Given the description of an element on the screen output the (x, y) to click on. 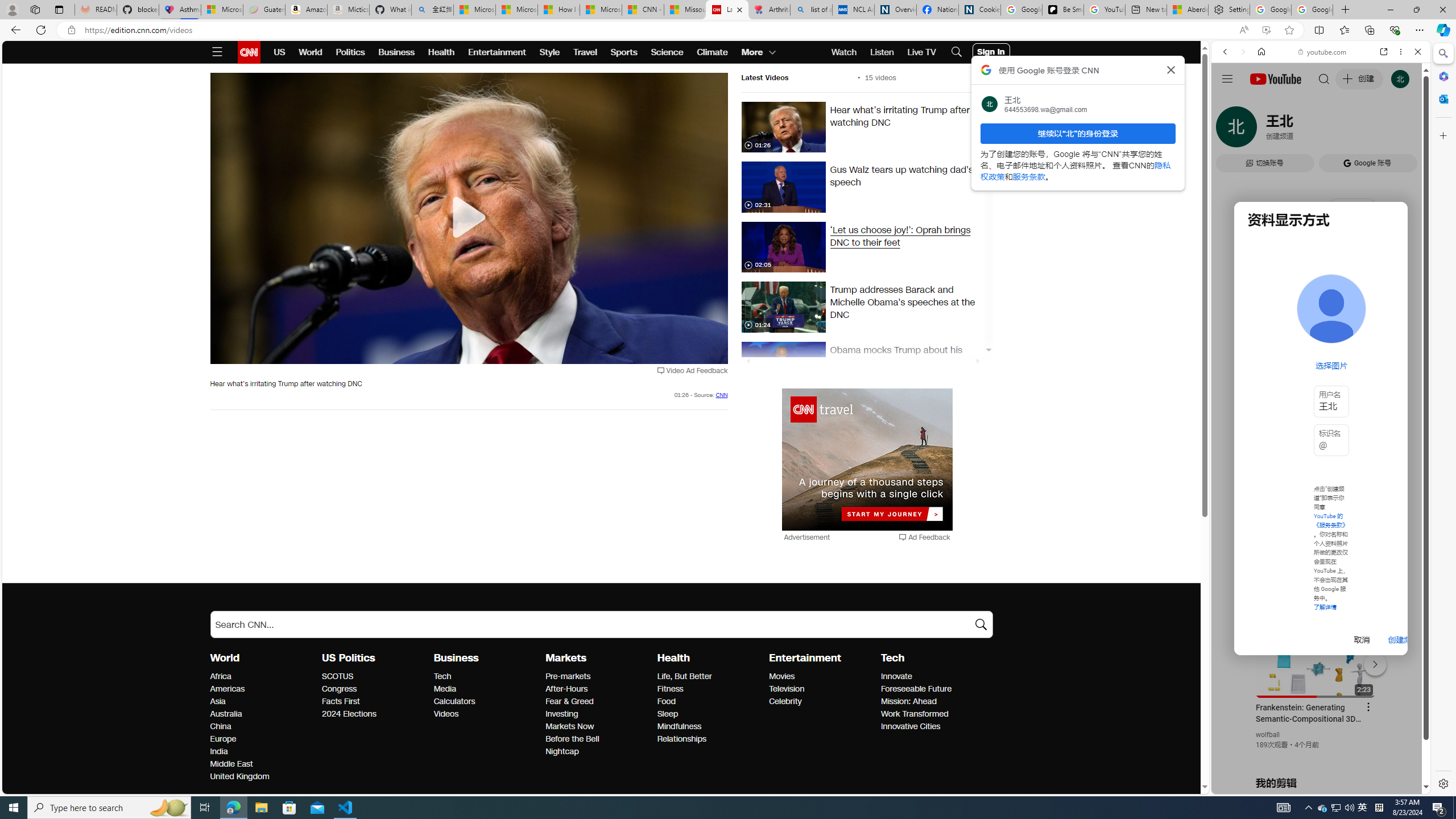
Asia (262, 701)
Entertainment Television (786, 688)
still_20889475_5694453.926_still.jpg (783, 186)
Videos (485, 714)
Facts First (373, 701)
Health Mindfulness (678, 726)
World United Kingdom (239, 776)
US Politics SCOTUS (337, 676)
Fitness (709, 688)
